Given the description of an element on the screen output the (x, y) to click on. 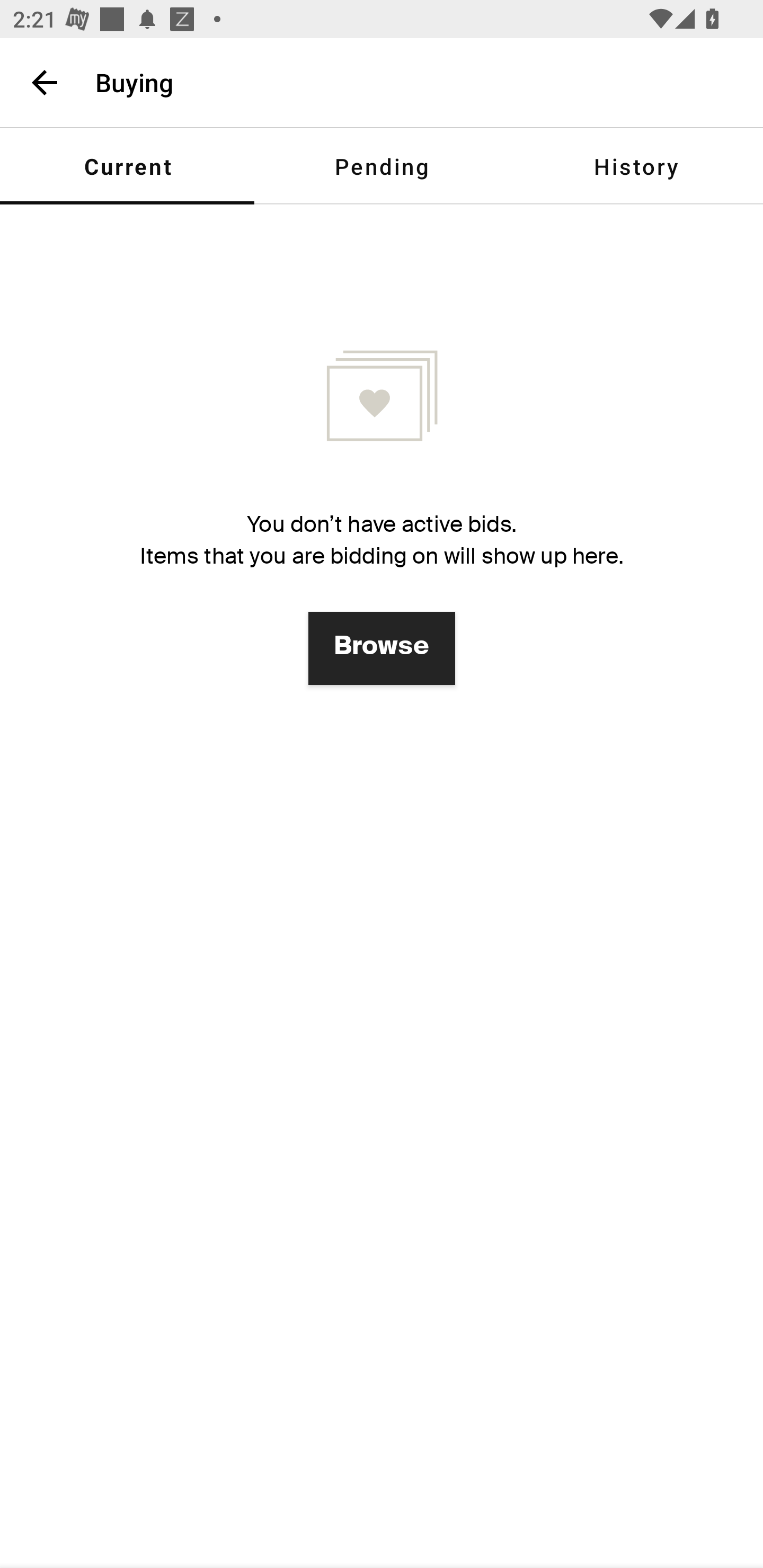
Navigate up (44, 82)
Pending (381, 165)
History (635, 165)
Browse (381, 647)
